Given the description of an element on the screen output the (x, y) to click on. 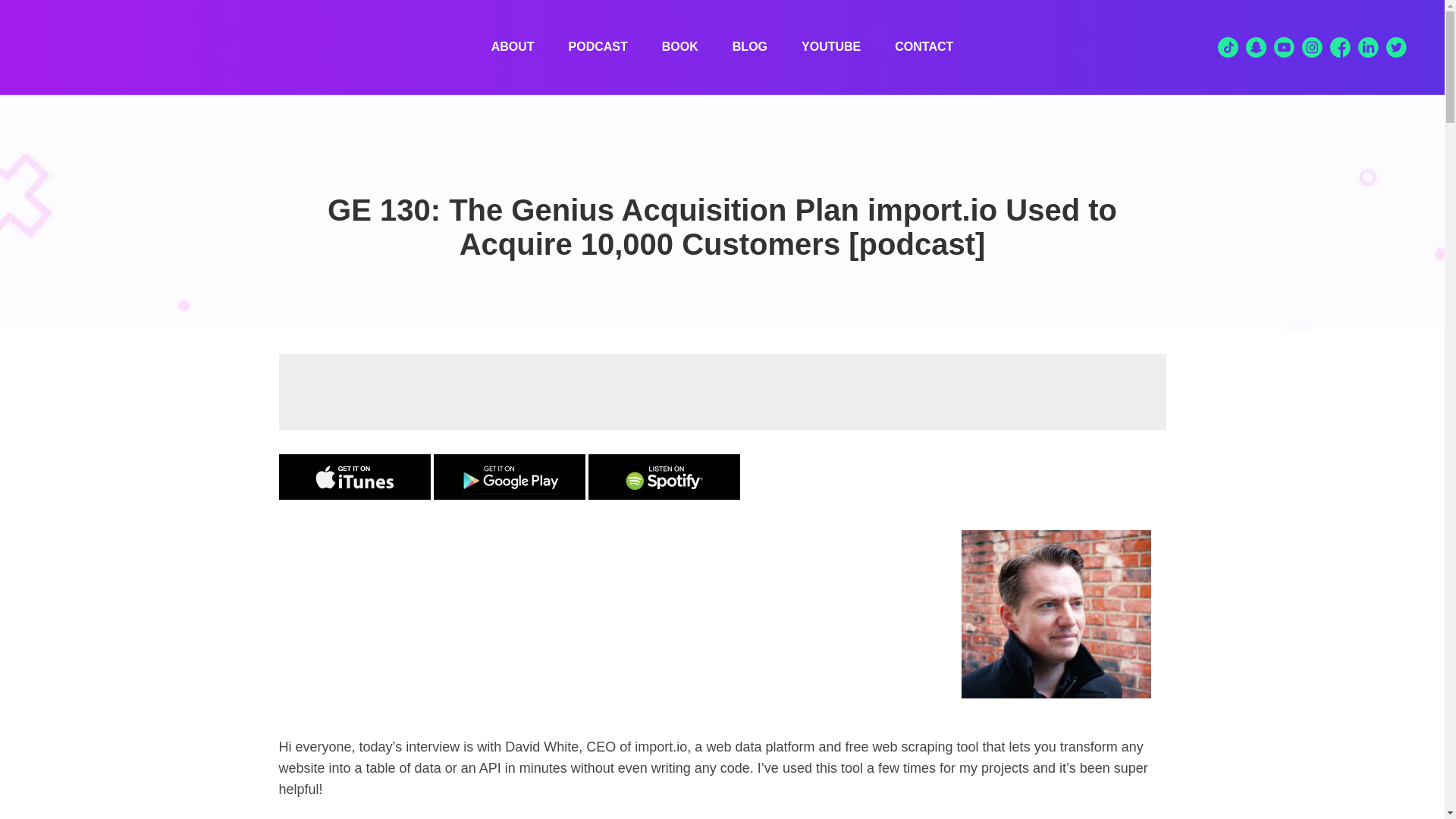
YOUTUBE (831, 47)
PODCAST (598, 47)
BOOK (680, 47)
ABOUT (513, 47)
BLOG (749, 47)
CONTACT (924, 47)
